Given the description of an element on the screen output the (x, y) to click on. 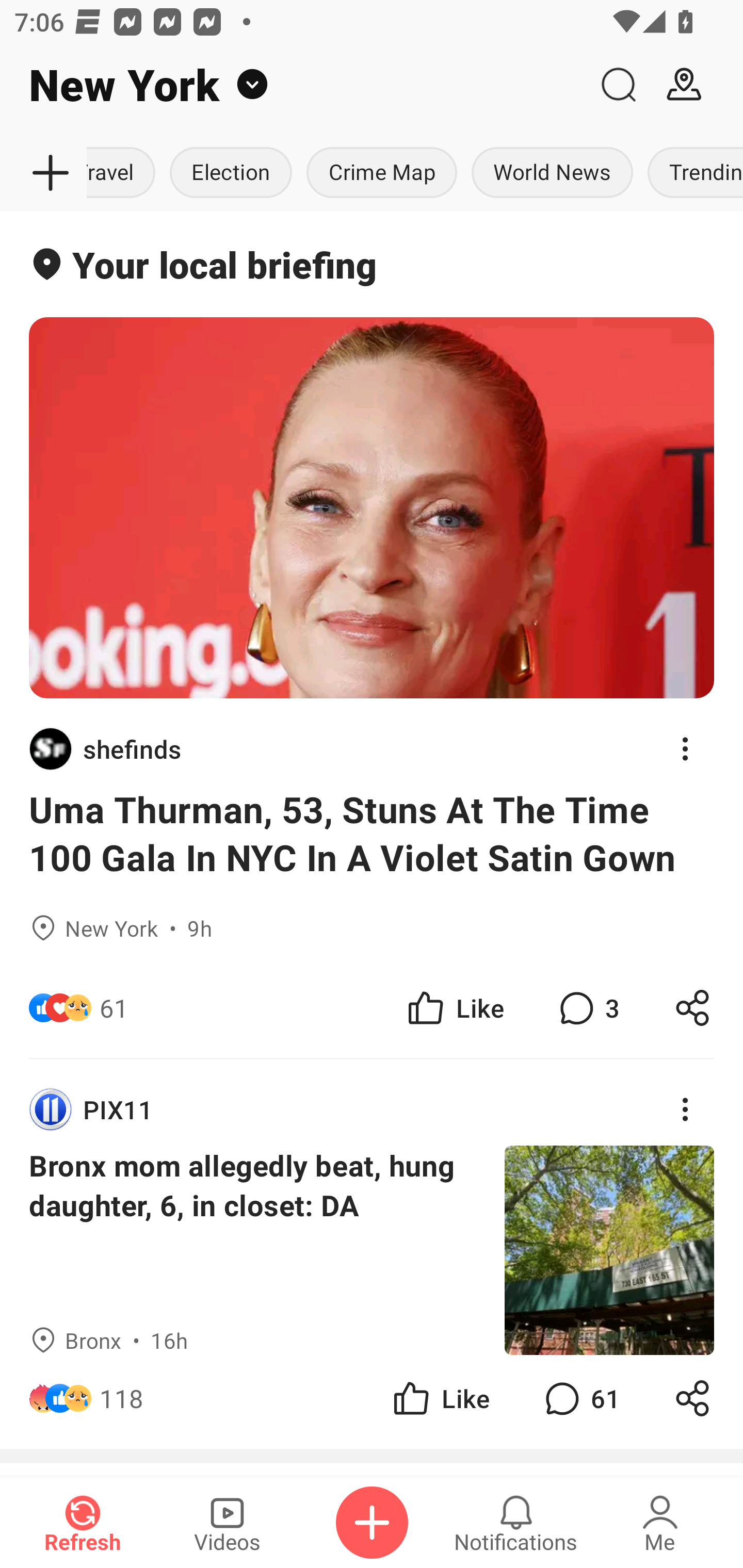
New York (292, 84)
Travel (124, 172)
Election (230, 172)
Crime Map (381, 172)
World News (552, 172)
Trending (691, 172)
61 (113, 1007)
Like (454, 1007)
3 (587, 1007)
118 (121, 1397)
Like (439, 1397)
61 (579, 1397)
Videos (227, 1522)
Notifications (516, 1522)
Me (659, 1522)
